Given the description of an element on the screen output the (x, y) to click on. 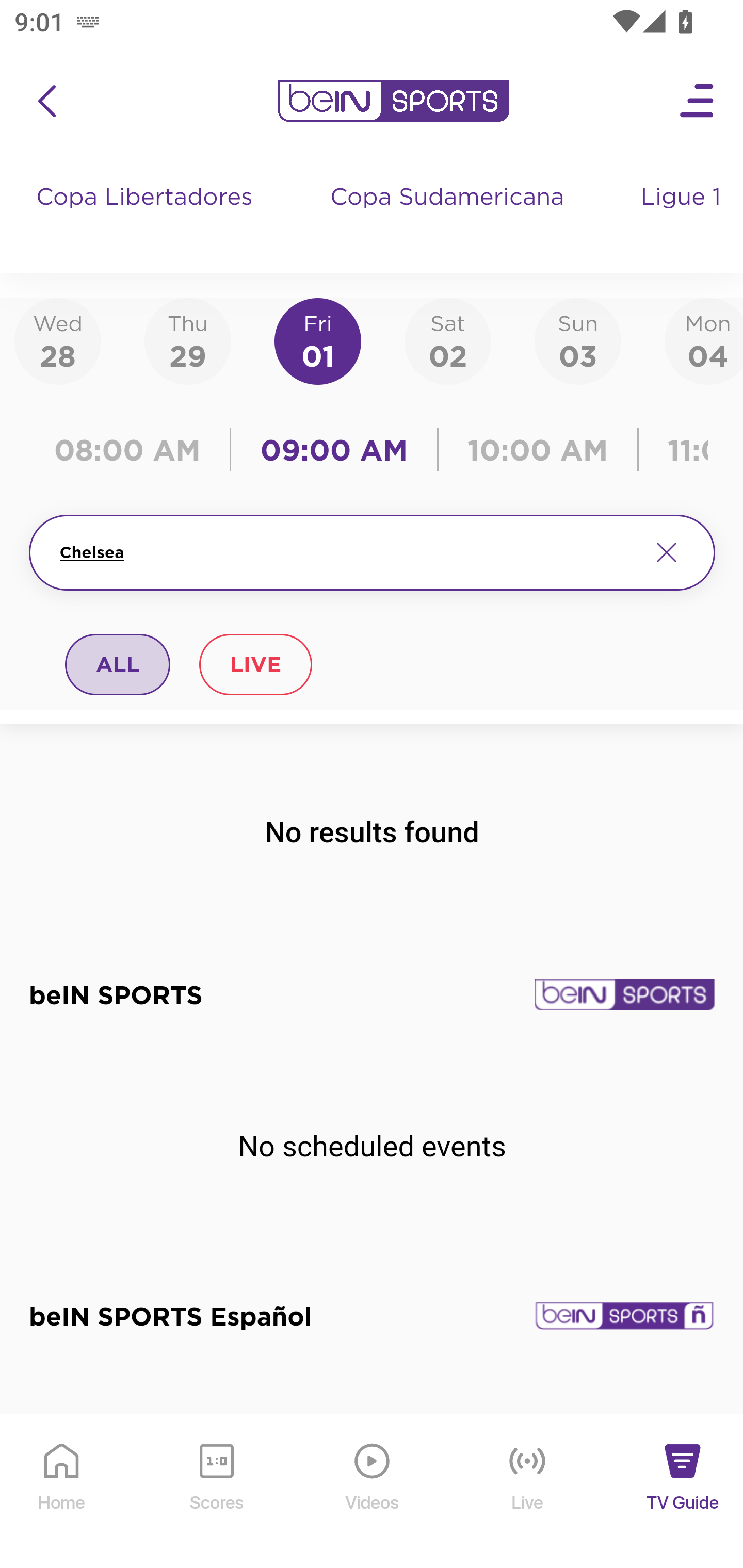
en-us?platform=mobile_android bein logo (392, 101)
icon back (46, 101)
Open Menu Icon (697, 101)
Copa Libertadores (146, 216)
Copa Sudamericana (448, 216)
Ligue 1 (682, 216)
Wed28 (58, 340)
Thu29 (187, 340)
Fri01 (318, 340)
Sat02 (447, 340)
Sun03 (578, 340)
Mon04 (703, 340)
08:00 AM (134, 449)
09:00 AM (334, 449)
10:00 AM (537, 449)
Chelsea (346, 552)
ALL (118, 663)
LIVE (255, 663)
Home Home Icon Home (61, 1491)
Scores Scores Icon Scores (216, 1491)
Videos Videos Icon Videos (372, 1491)
TV Guide TV Guide Icon TV Guide (682, 1491)
